Given the description of an element on the screen output the (x, y) to click on. 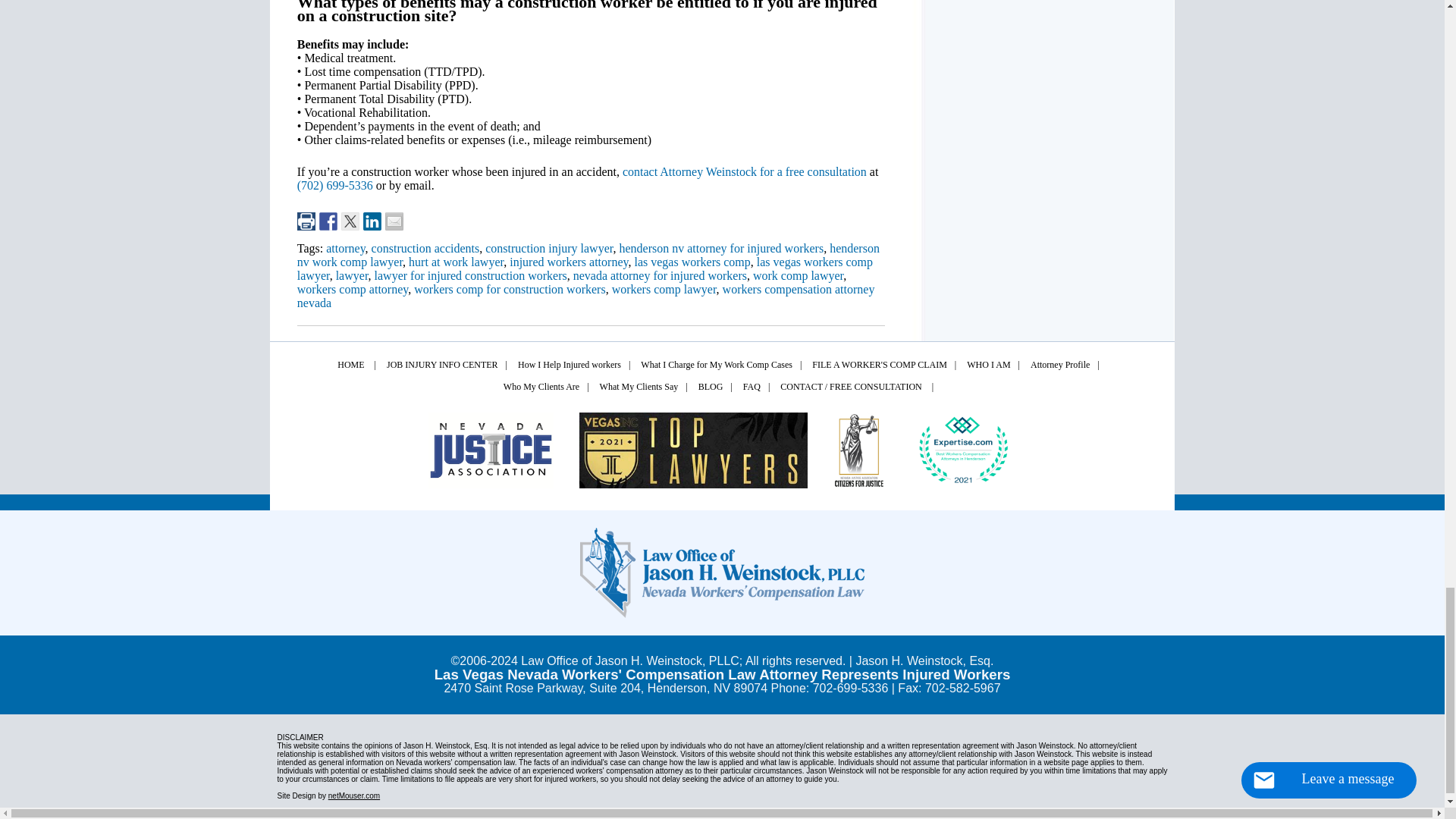
Share on Twitter (349, 221)
Share on Facebook (327, 221)
